Given the description of an element on the screen output the (x, y) to click on. 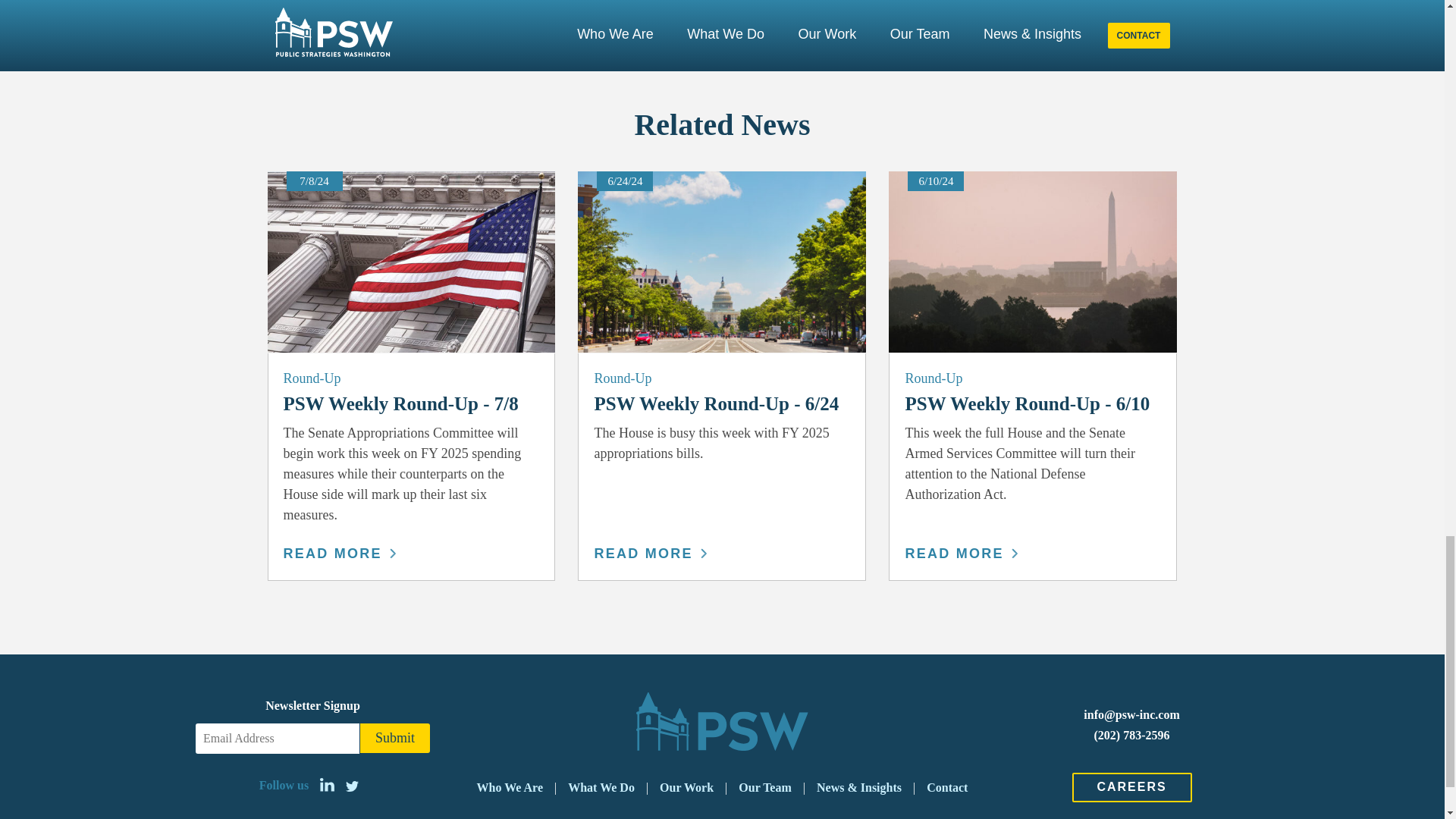
READ MORE (960, 554)
READ MORE (650, 554)
READ MORE (339, 554)
Submit (394, 737)
